Given the description of an element on the screen output the (x, y) to click on. 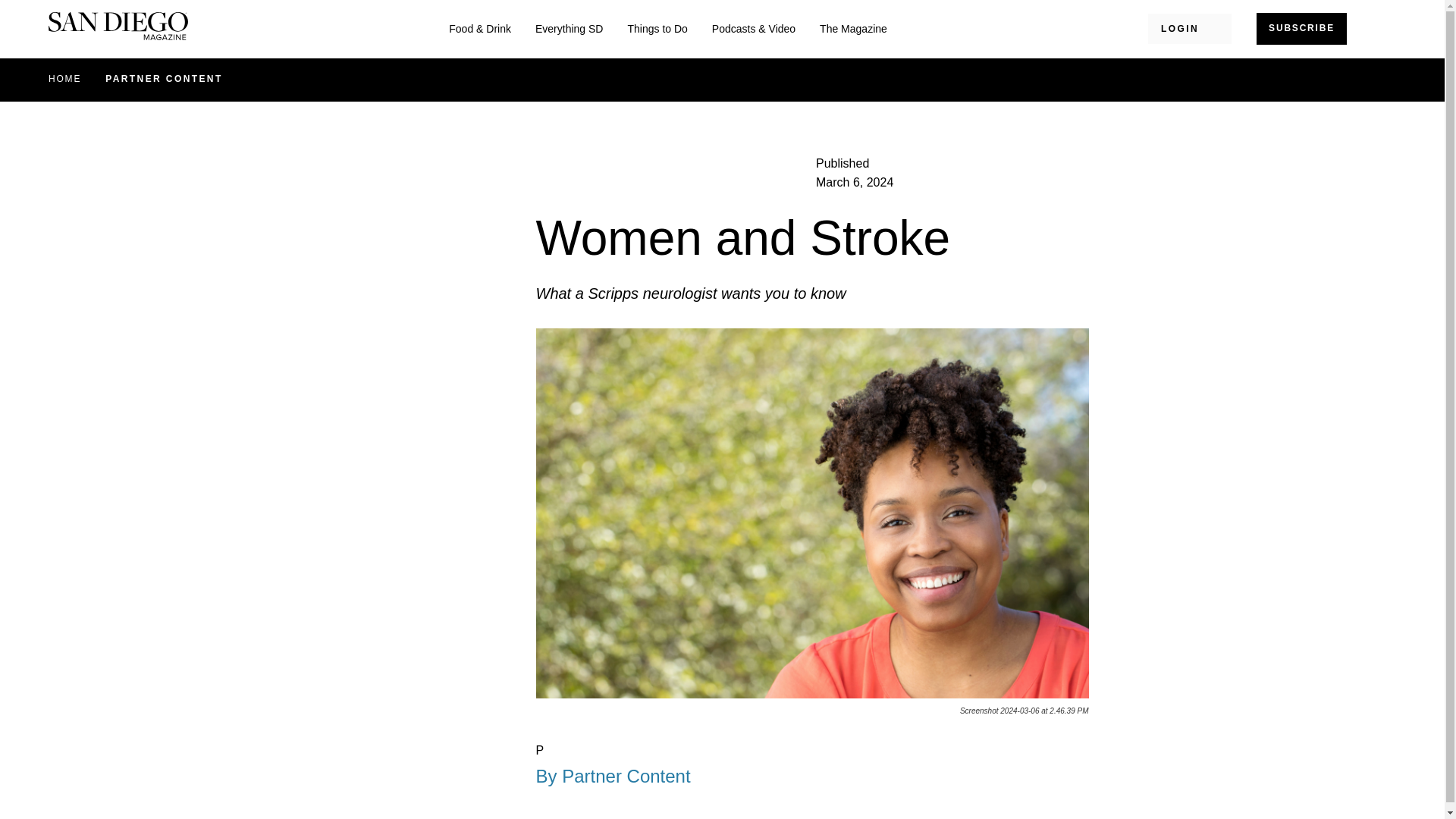
SUBSCRIBE (1301, 28)
Things to Do (657, 28)
Everything SD (568, 28)
The Magazine (852, 28)
